Given the description of an element on the screen output the (x, y) to click on. 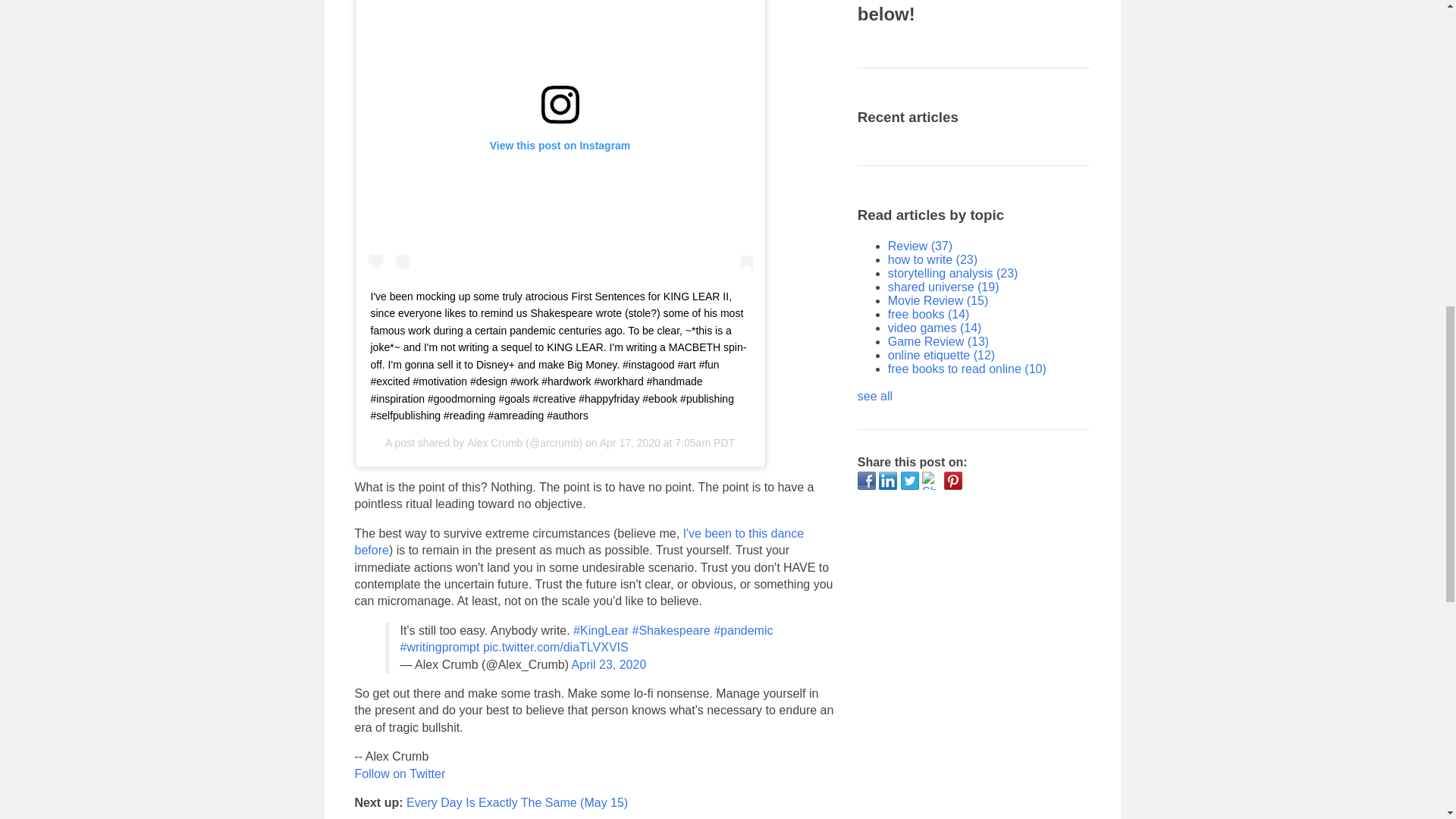
Alex Crumb (494, 442)
April 23, 2020 (609, 664)
I've been to this dance before (559, 138)
Follow on Twitter (580, 541)
